Given the description of an element on the screen output the (x, y) to click on. 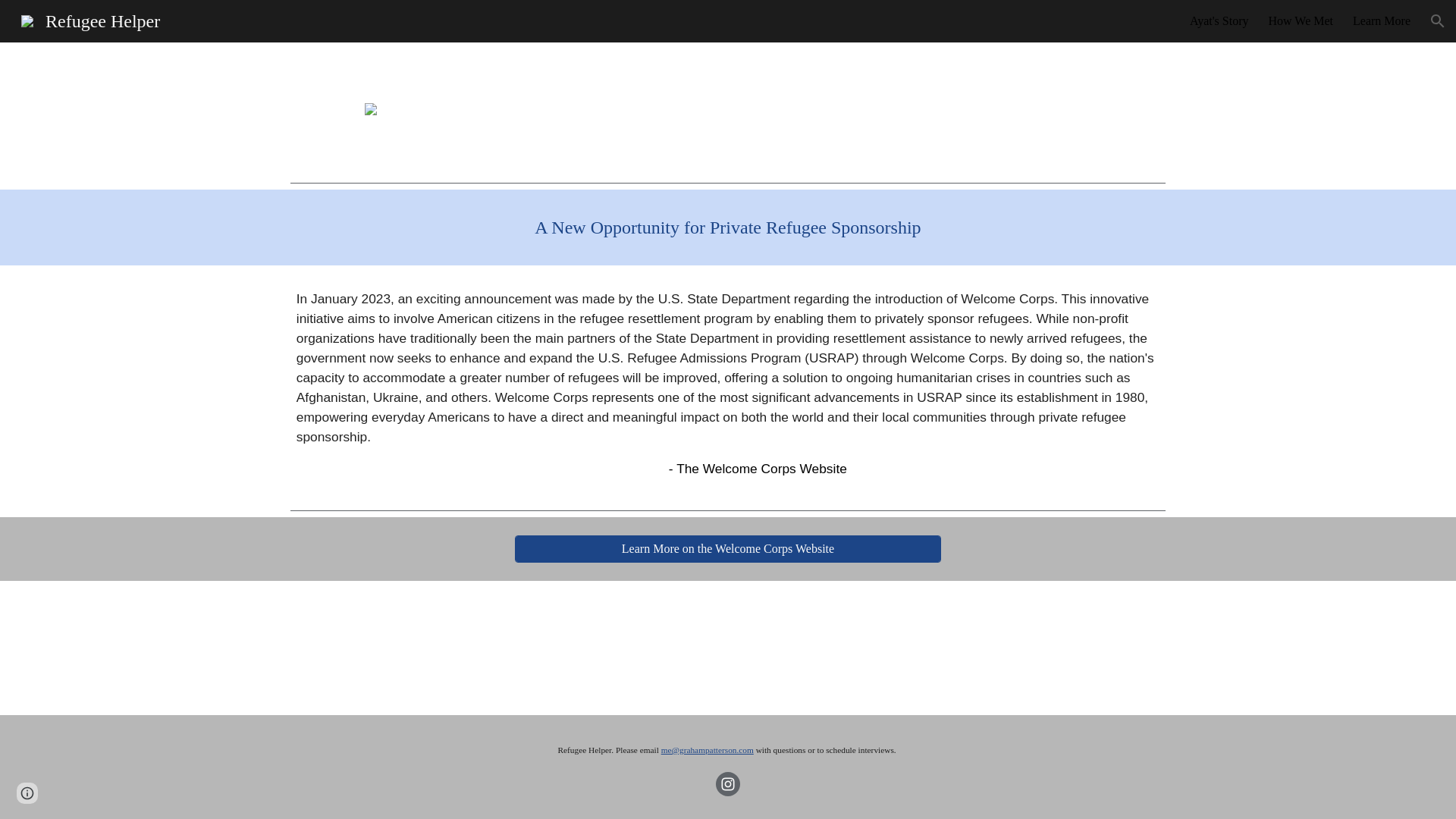
Refugee Helper (89, 19)
Ayat's Story (1218, 20)
How We Met (1300, 20)
Learn More on the Welcome Corps Website (727, 548)
Learn More (1381, 20)
